Given the description of an element on the screen output the (x, y) to click on. 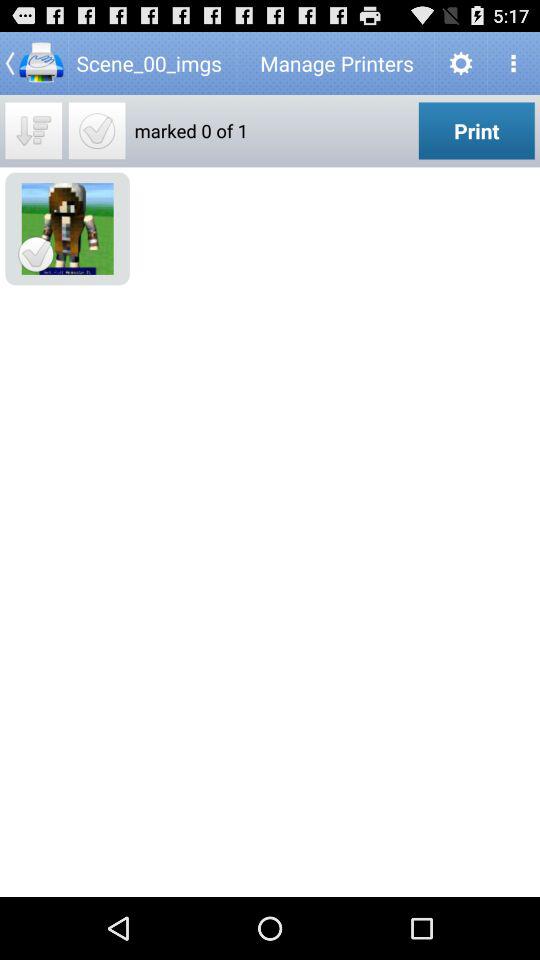
select the icon to the right of marked 0 of (476, 130)
